Given the description of an element on the screen output the (x, y) to click on. 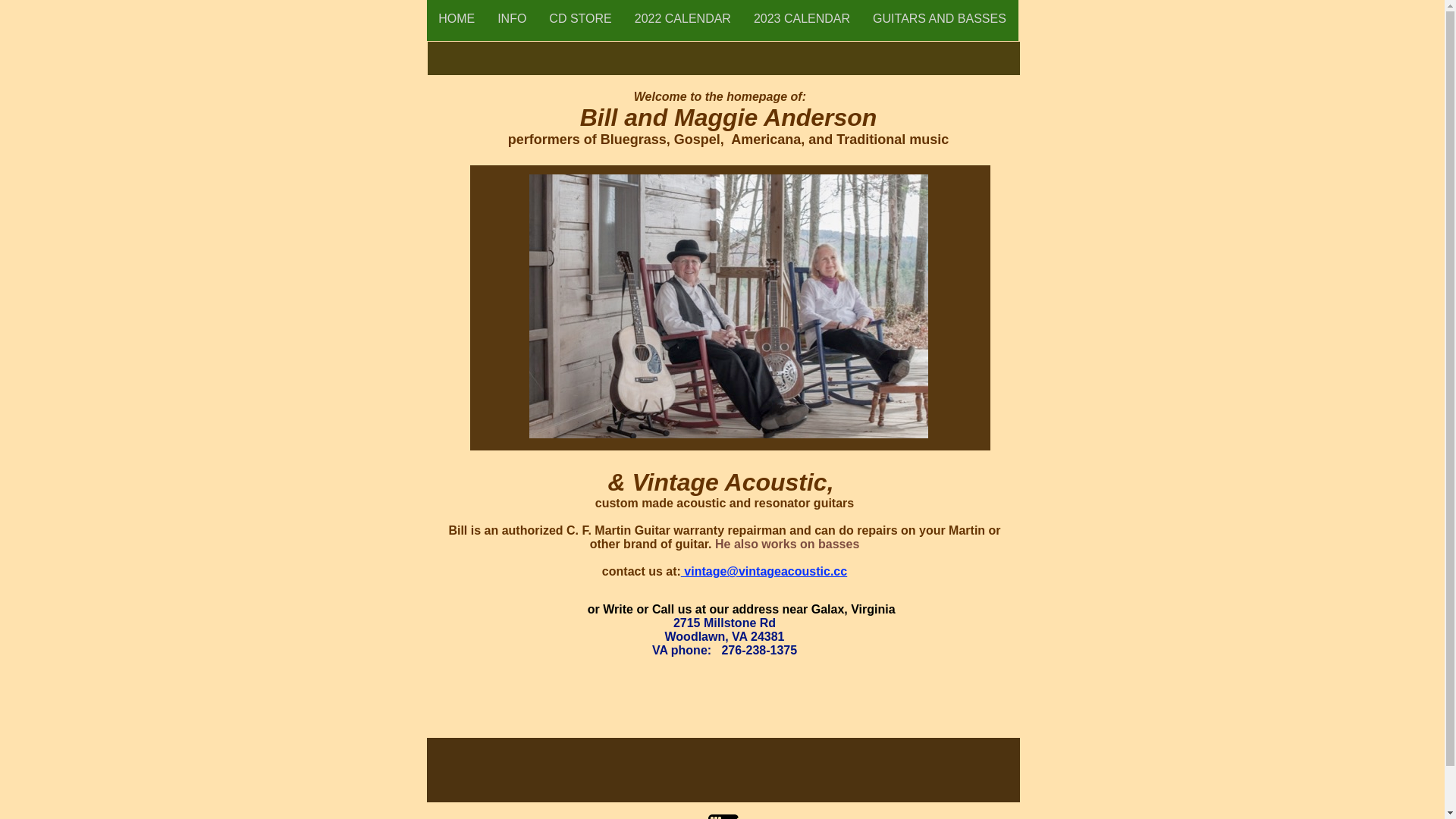
HOME Element type: text (456, 18)
vintage@vintageacoustic.cc Element type: text (765, 570)
GUITARS AND BASSES Element type: text (939, 18)
2023 CALENDAR Element type: text (801, 18)
2022 CALENDAR Element type: text (682, 18)
INFO Element type: text (511, 18)
CD STORE Element type: text (580, 18)
